Given the description of an element on the screen output the (x, y) to click on. 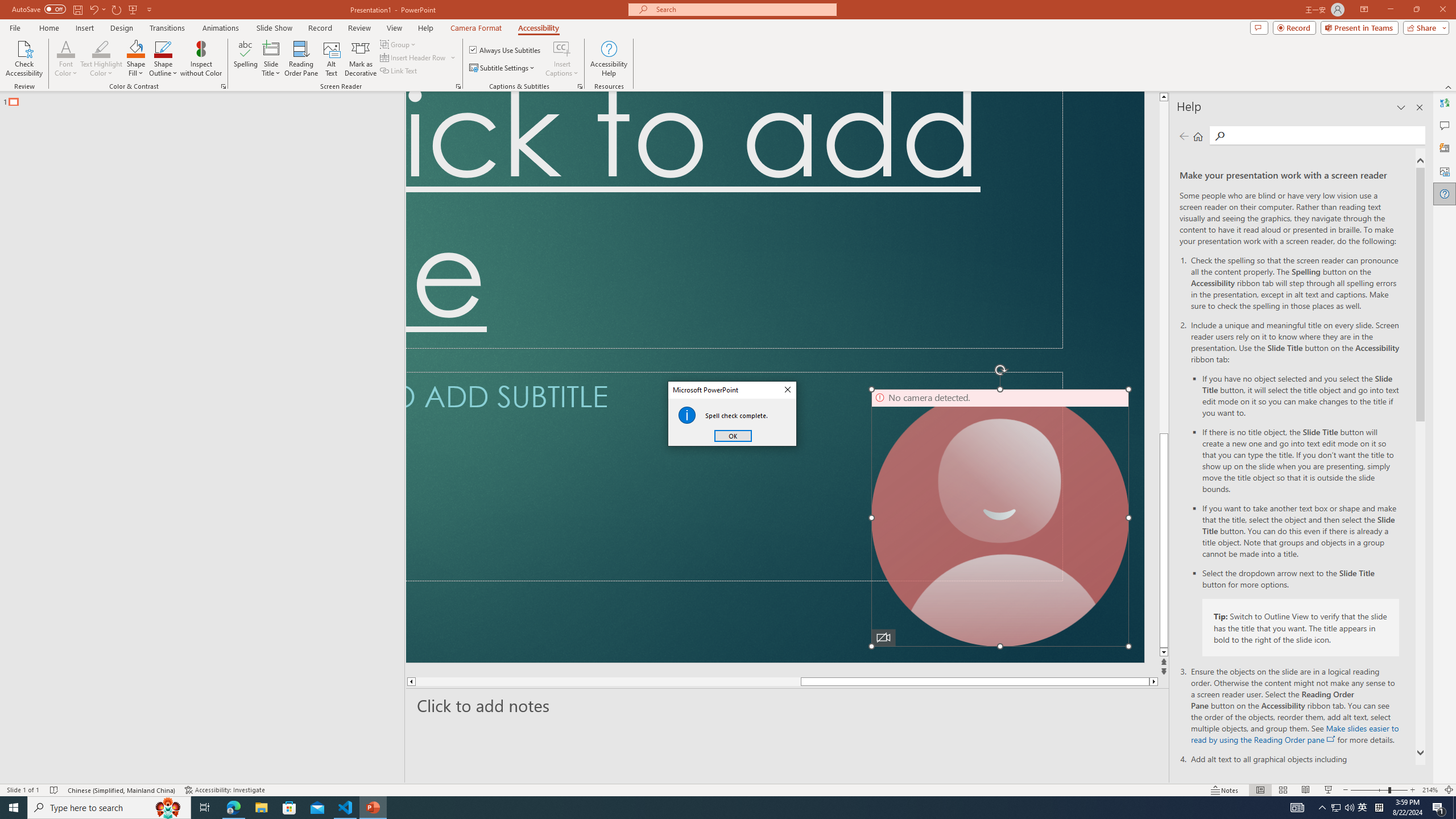
Google Chrome (729, 800)
Minimize (1353, 18)
Save As (59, 380)
Transform (59, 567)
